Given the description of an element on the screen output the (x, y) to click on. 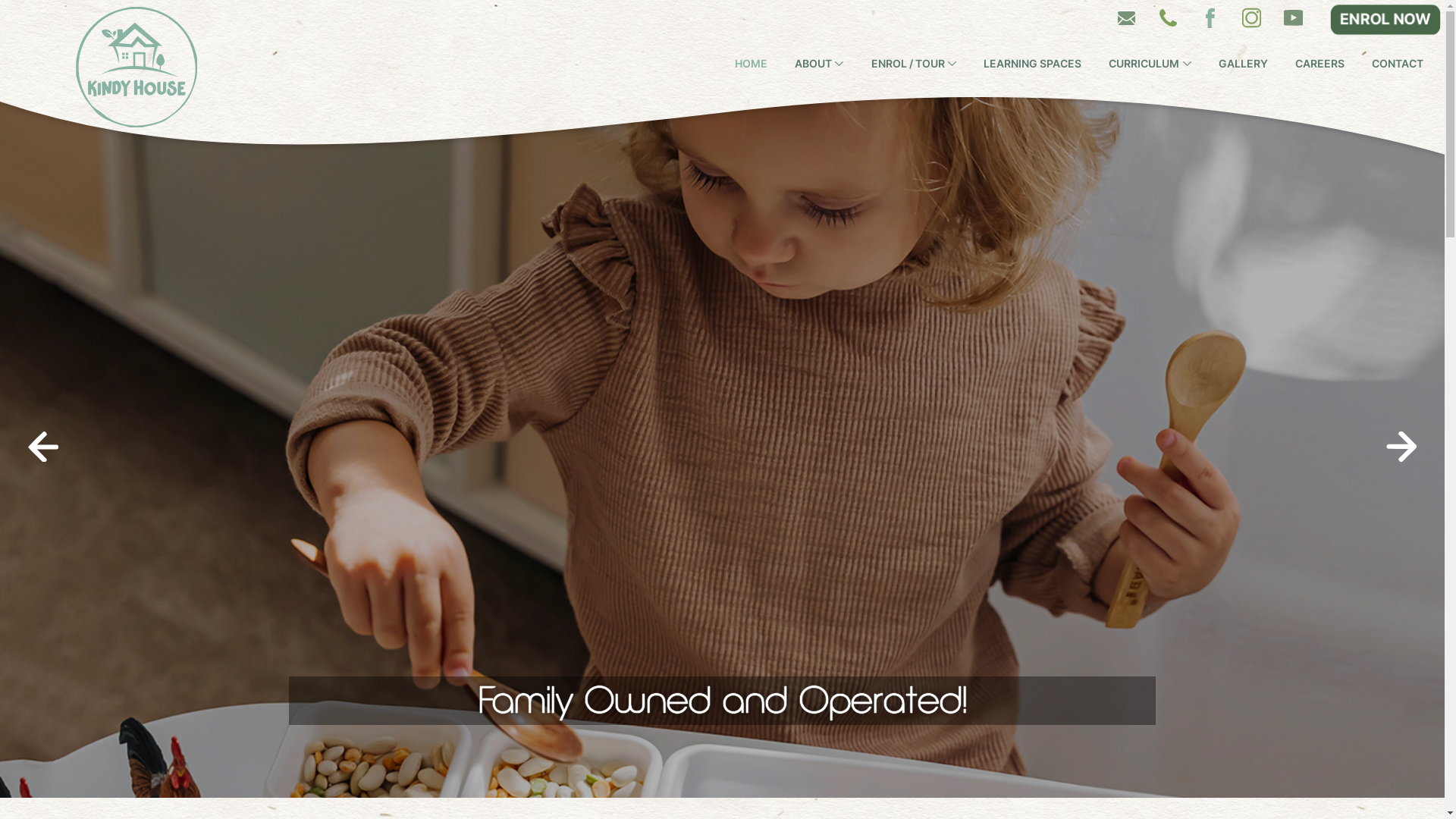
ABOUT Element type: text (819, 63)
HOME Element type: text (750, 63)
CURRICULUM Element type: text (1149, 63)
ENROL / TOUR Element type: text (913, 63)
GALLERY Element type: text (1242, 63)
ENROL NOW Element type: text (1383, 18)
LEARNING SPACES Element type: text (1032, 63)
CAREERS Element type: text (1319, 63)
CONTACT Element type: text (1397, 63)
